Given the description of an element on the screen output the (x, y) to click on. 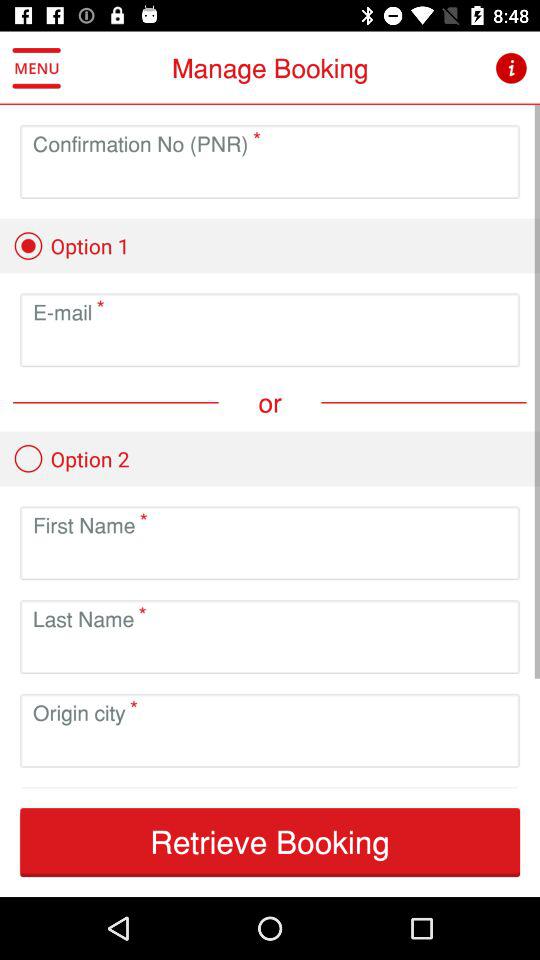
click to more information (510, 67)
